Given the description of an element on the screen output the (x, y) to click on. 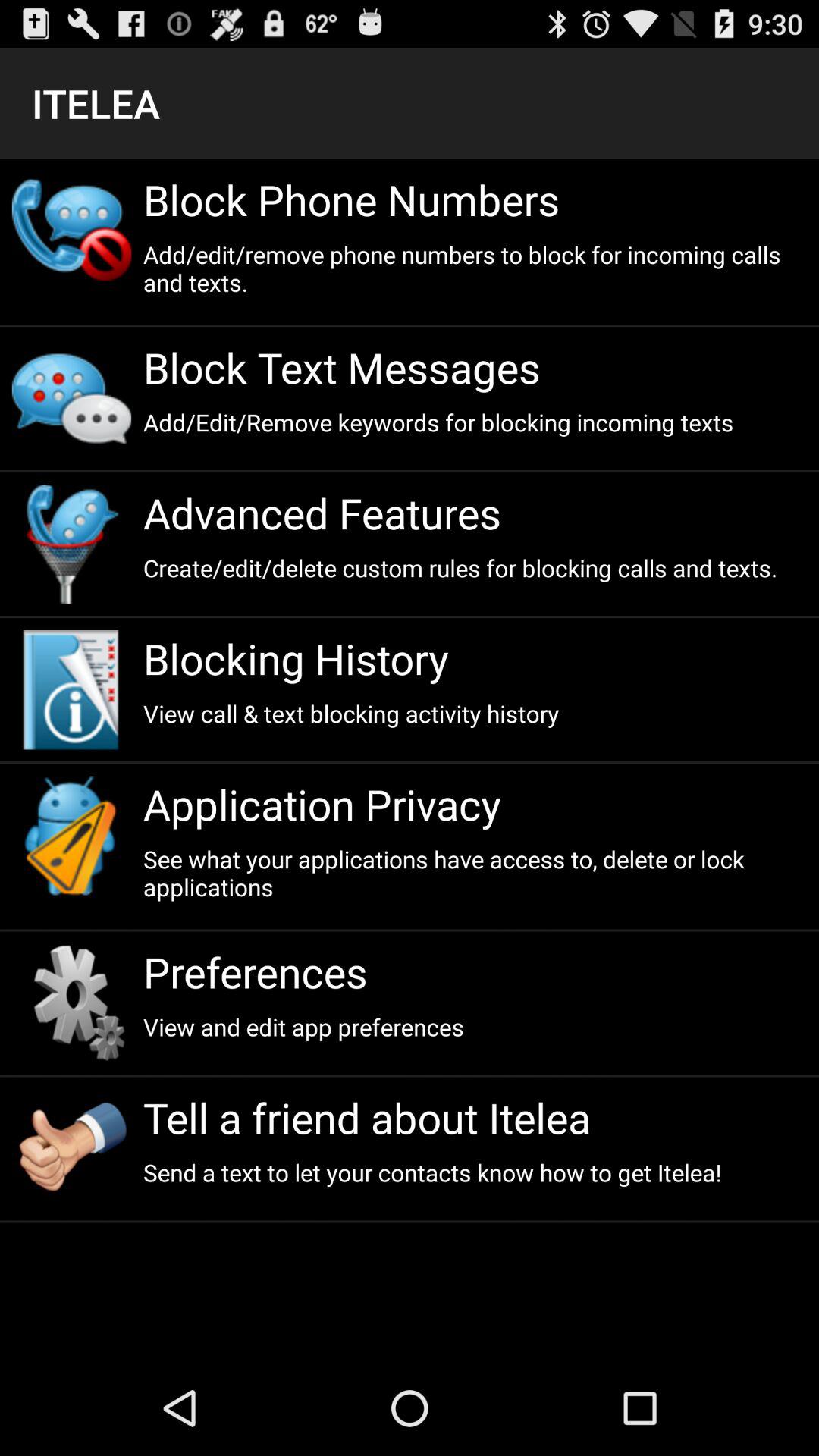
turn on view call text icon (475, 713)
